Given the description of an element on the screen output the (x, y) to click on. 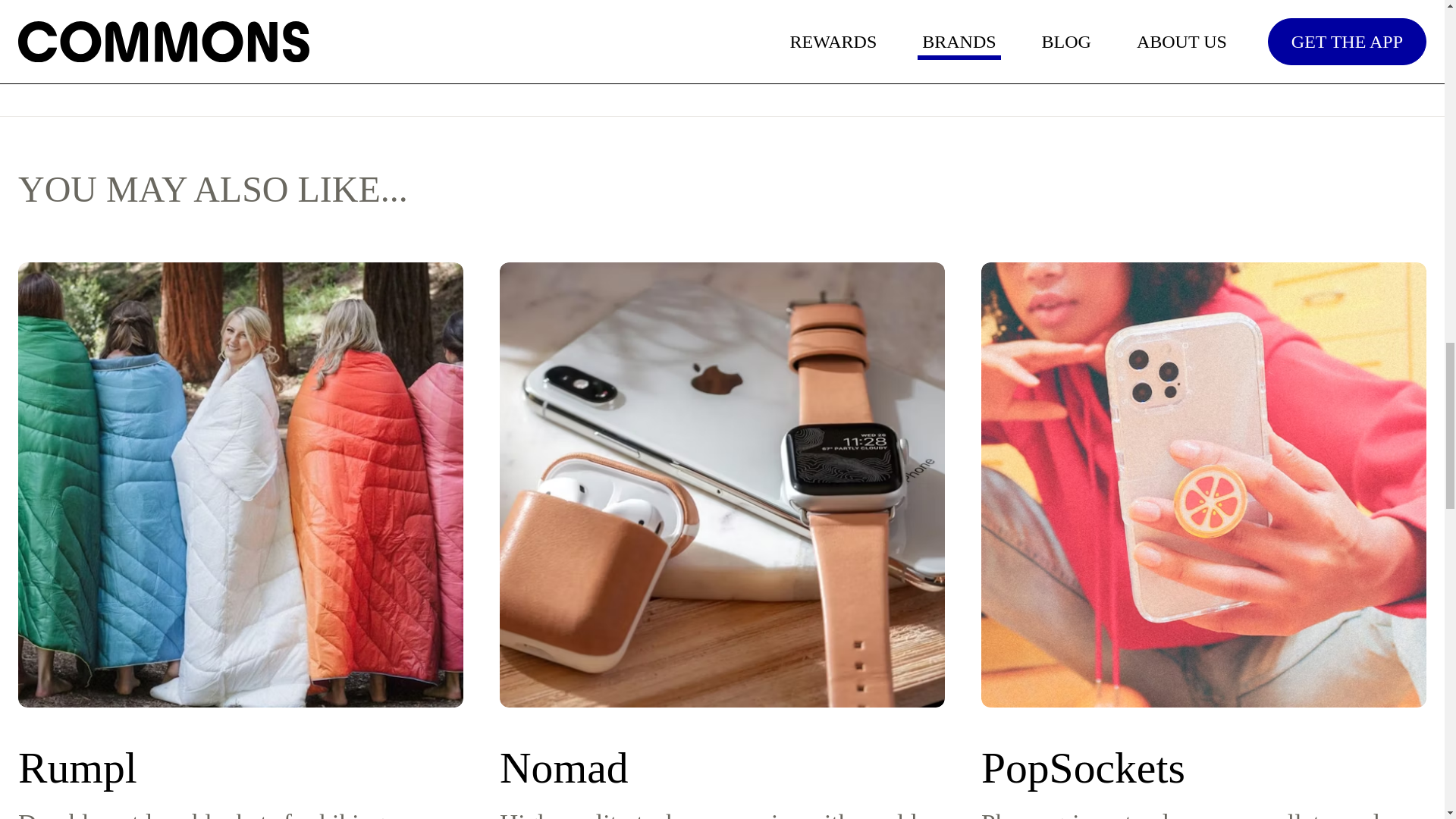
Climate Neutral Certified (307, 3)
